Given the description of an element on the screen output the (x, y) to click on. 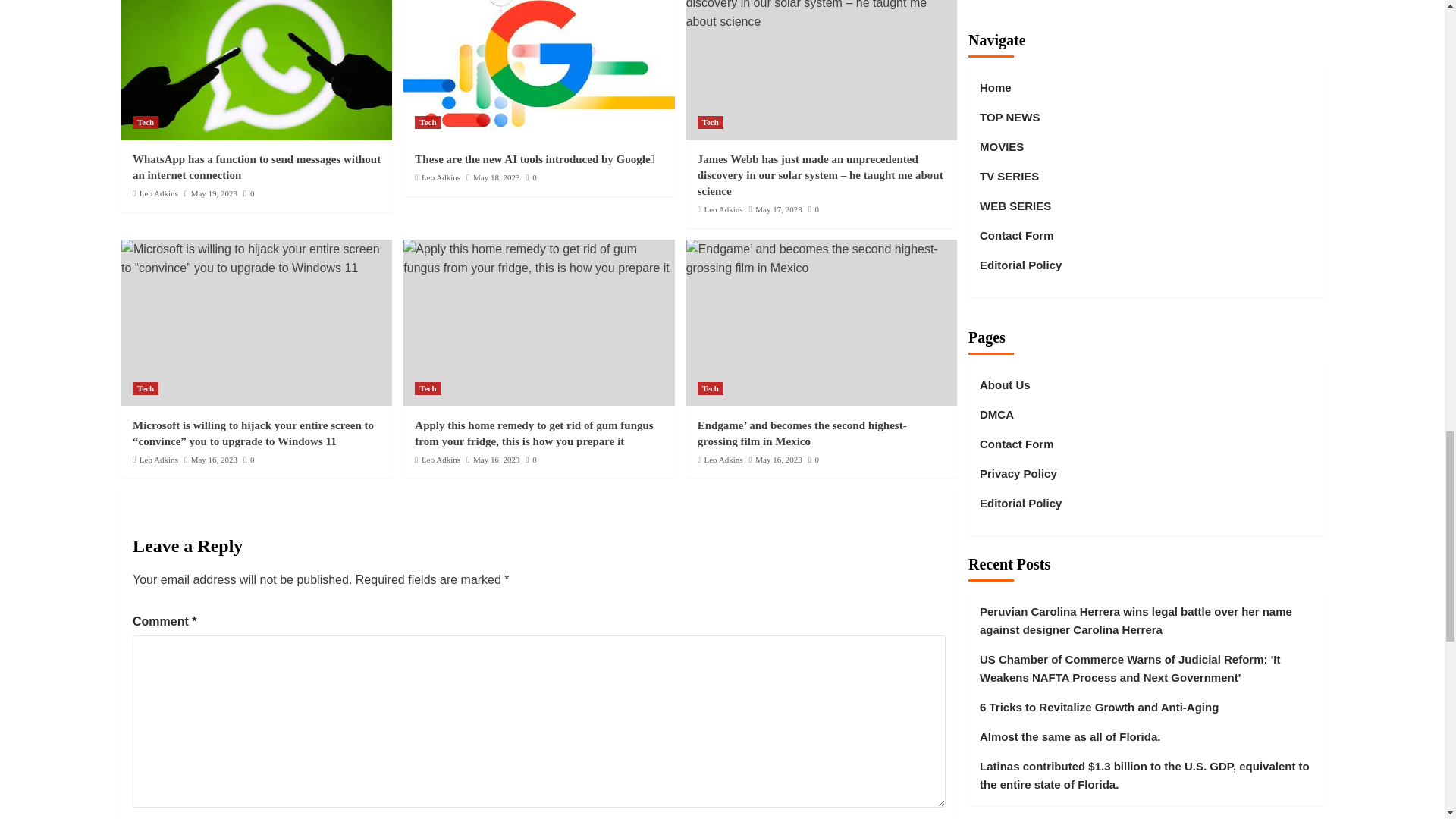
Tech (145, 122)
May 19, 2023 (213, 193)
Leo Adkins (158, 193)
0 (248, 193)
Tech (427, 122)
